Given the description of an element on the screen output the (x, y) to click on. 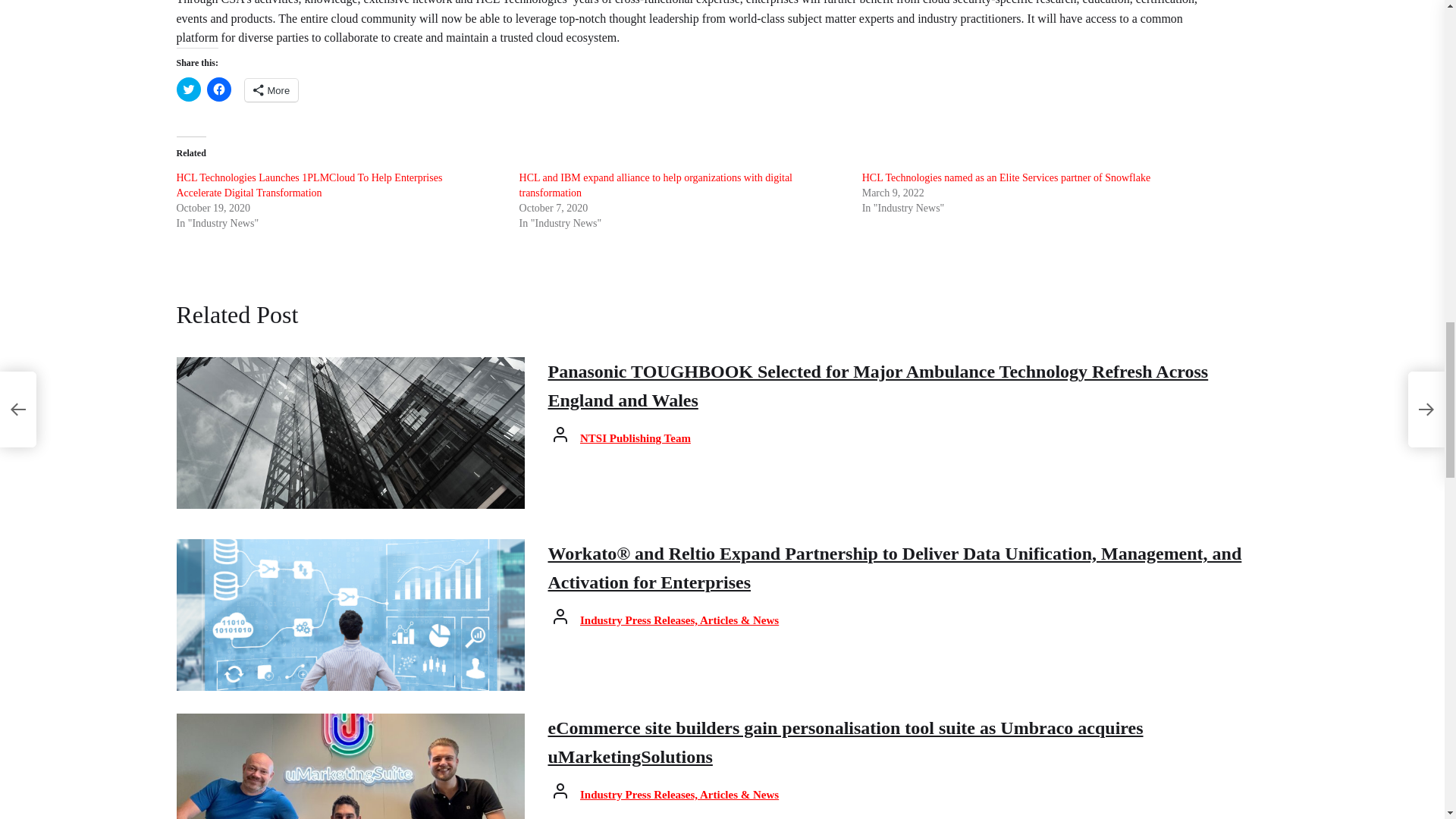
Click to share on Twitter (188, 88)
Click to share on Facebook (218, 88)
